Given the description of an element on the screen output the (x, y) to click on. 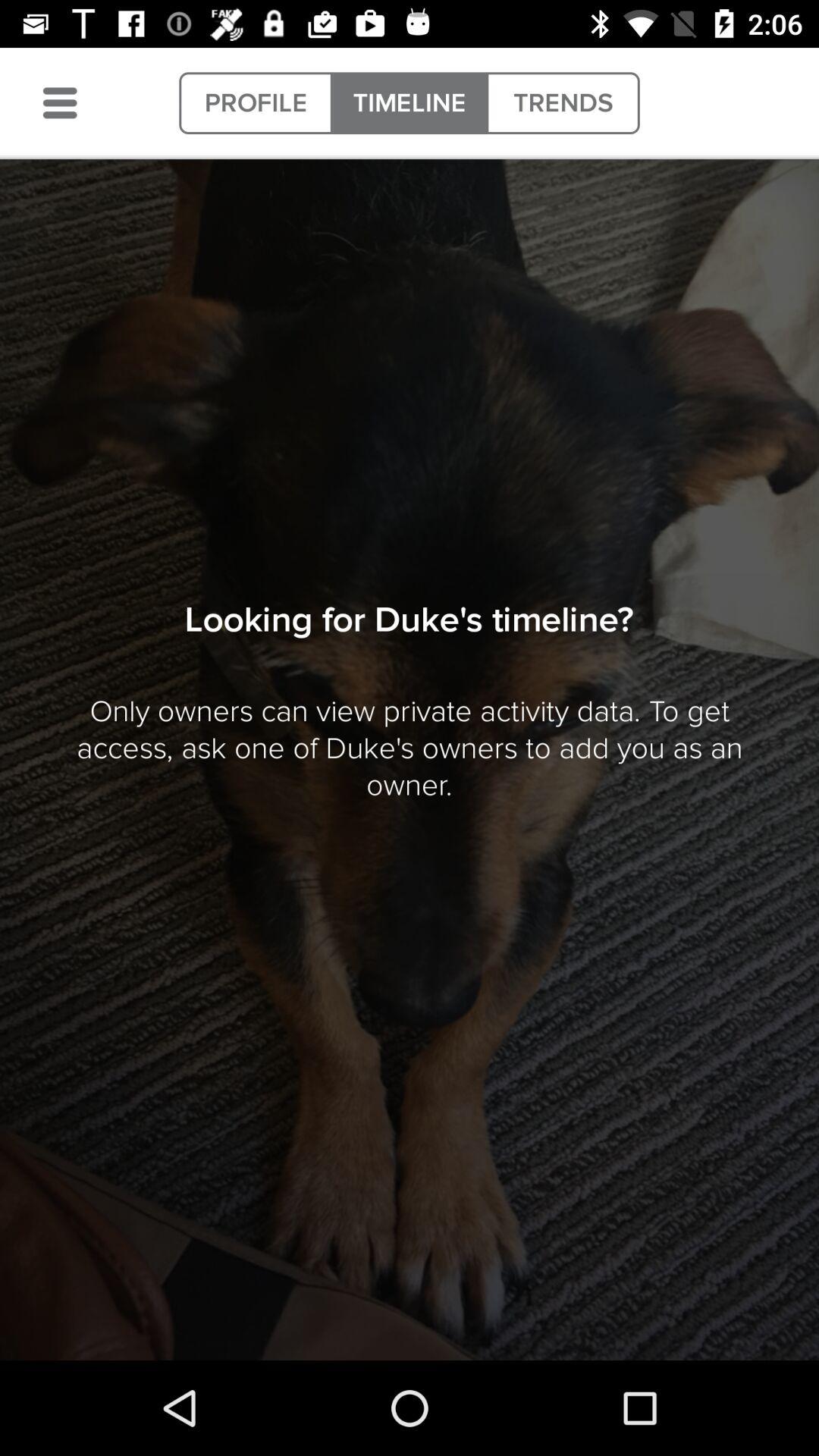
turn on the trends (562, 103)
